Given the description of an element on the screen output the (x, y) to click on. 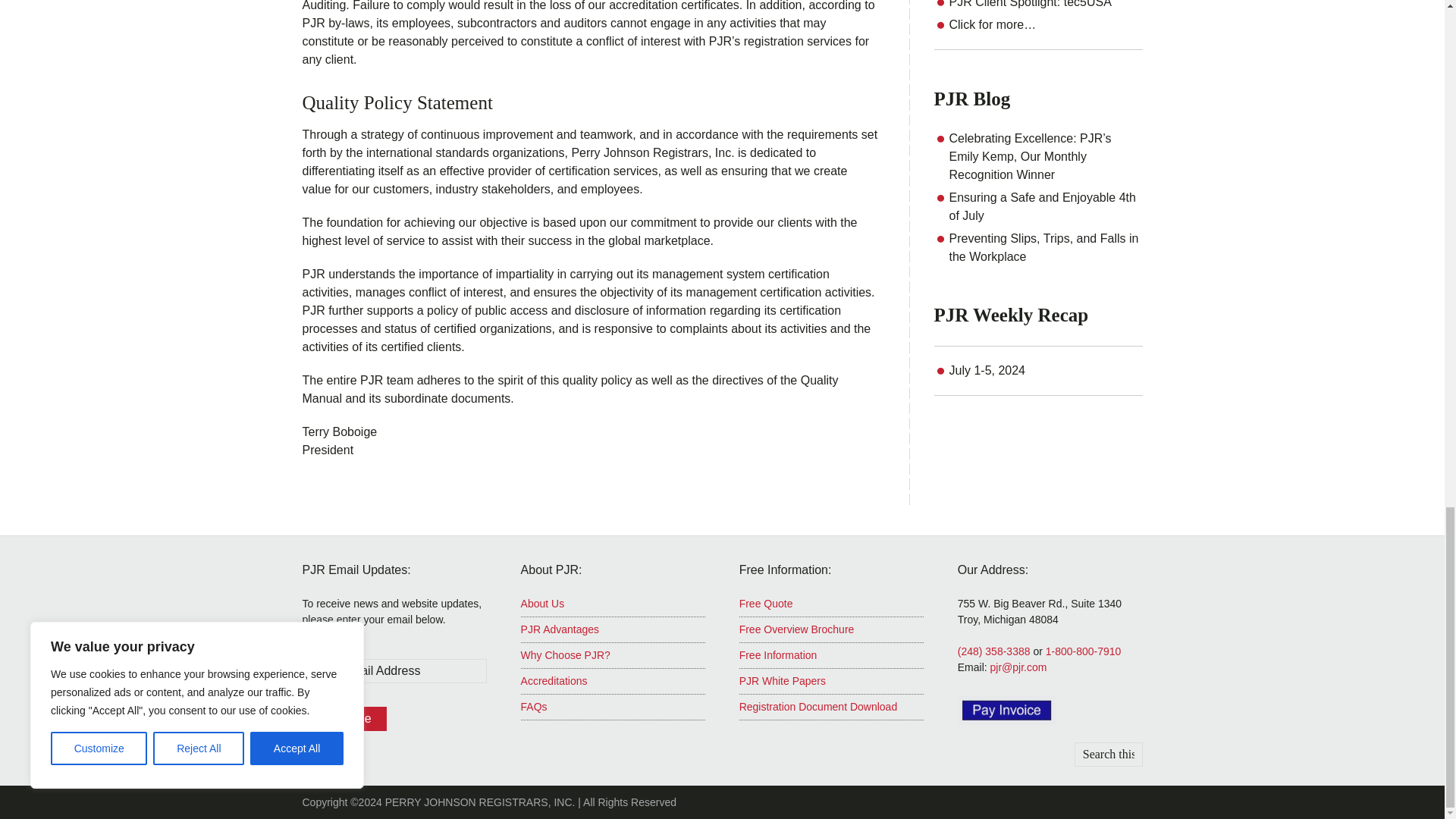
Subscribe (343, 718)
Pay Invoice (1007, 709)
